Given the description of an element on the screen output the (x, y) to click on. 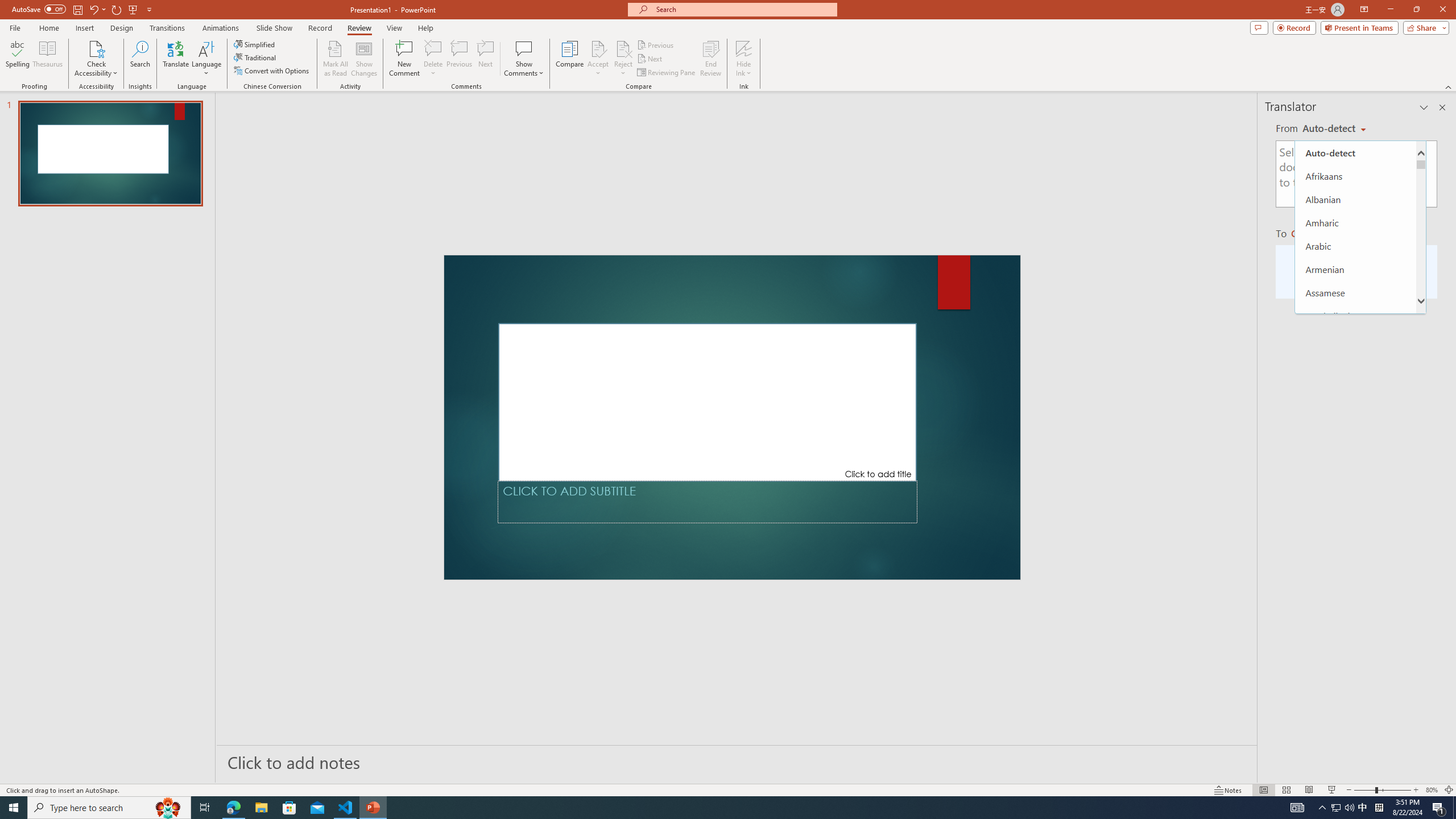
Hide Ink (743, 48)
Delete (432, 48)
Armenian (1355, 268)
Chinese Simplified (1355, 594)
Chhattisgarhi (1355, 548)
Catalan (1355, 525)
Language (206, 58)
Reviewing Pane (666, 72)
